Given the description of an element on the screen output the (x, y) to click on. 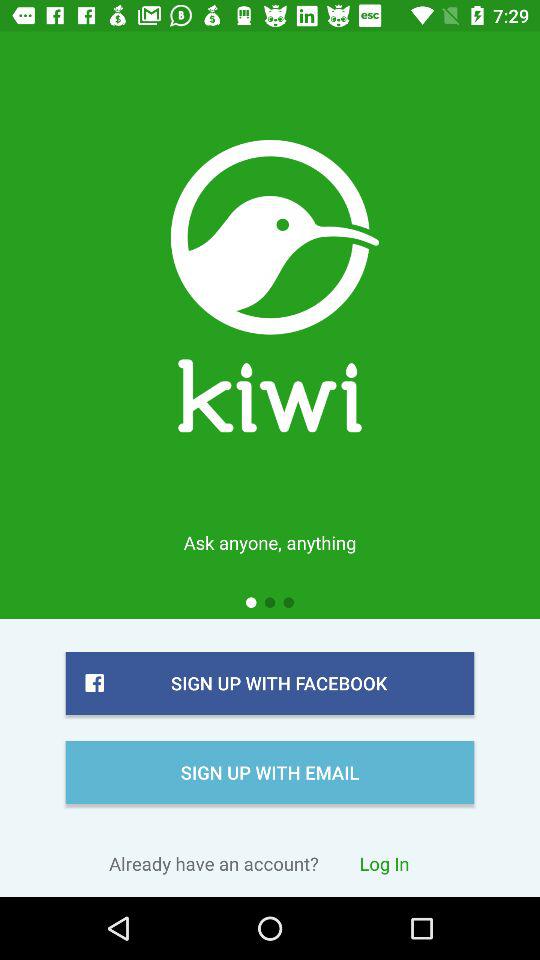
choose the log in at the bottom right corner (384, 863)
